Given the description of an element on the screen output the (x, y) to click on. 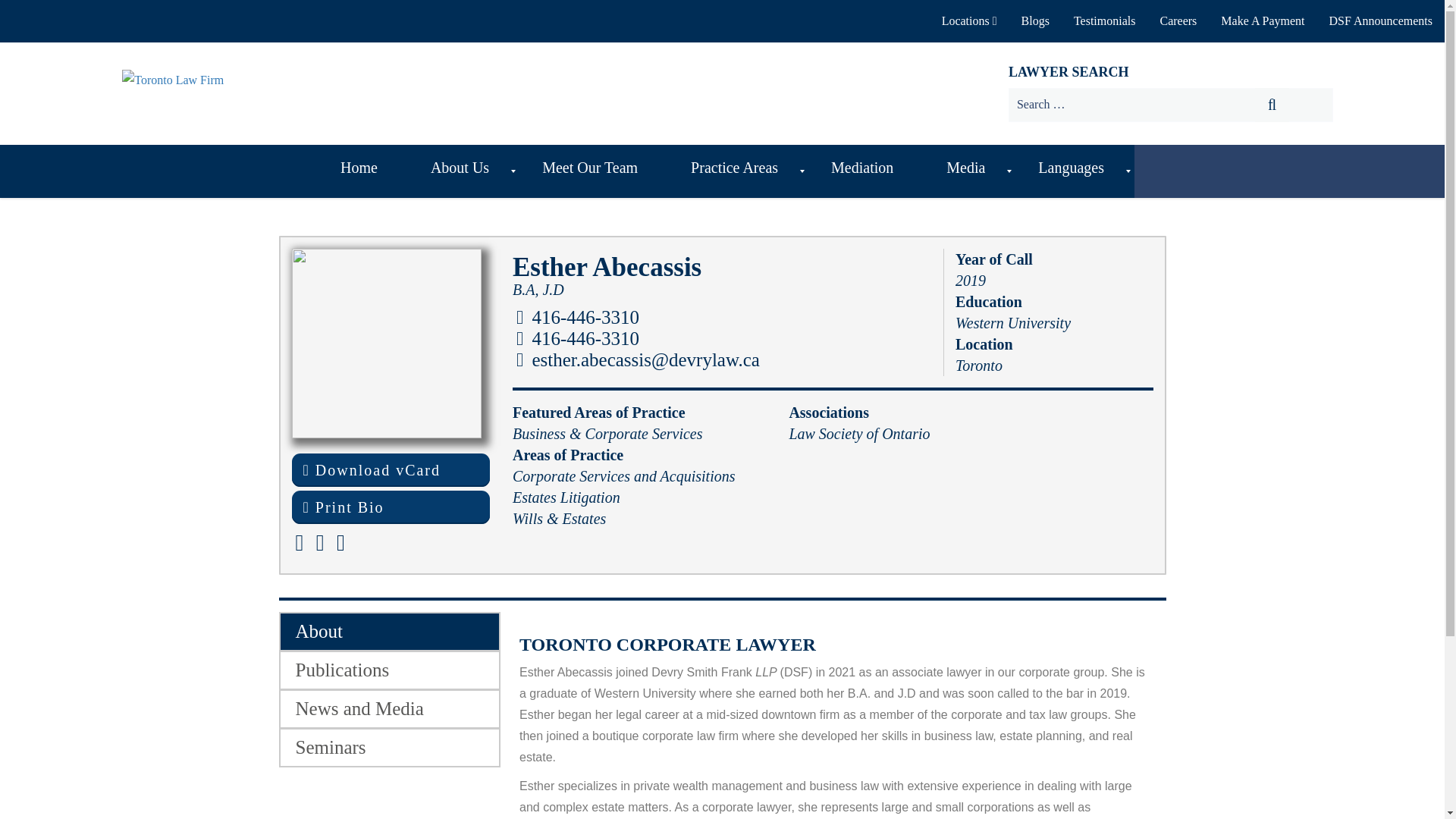
DSF Announcements (1380, 21)
About Us (463, 171)
Email (638, 359)
Locations (969, 21)
Fax (577, 338)
Practice Areas (738, 171)
Download VCard (390, 469)
Print Bio (390, 507)
Phone (577, 317)
Meet Our Team (593, 171)
Blogs (1035, 21)
Careers (1177, 21)
Testimonials (1104, 21)
Home (362, 171)
Make A Payment (1262, 21)
